Given the description of an element on the screen output the (x, y) to click on. 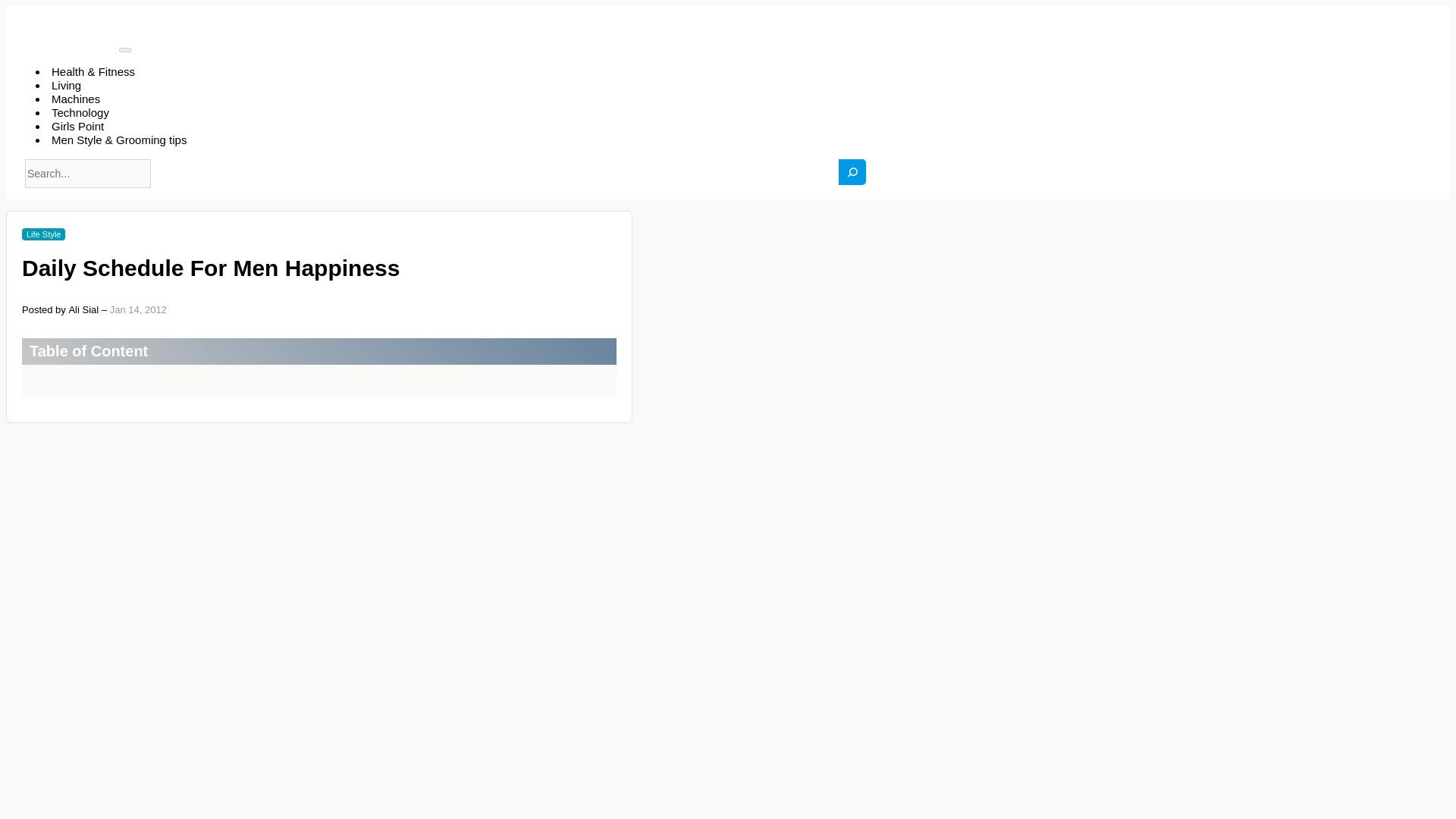
Machines (75, 98)
Life Style (43, 234)
Living (66, 85)
Technology (80, 112)
Girls Point (77, 126)
